Given the description of an element on the screen output the (x, y) to click on. 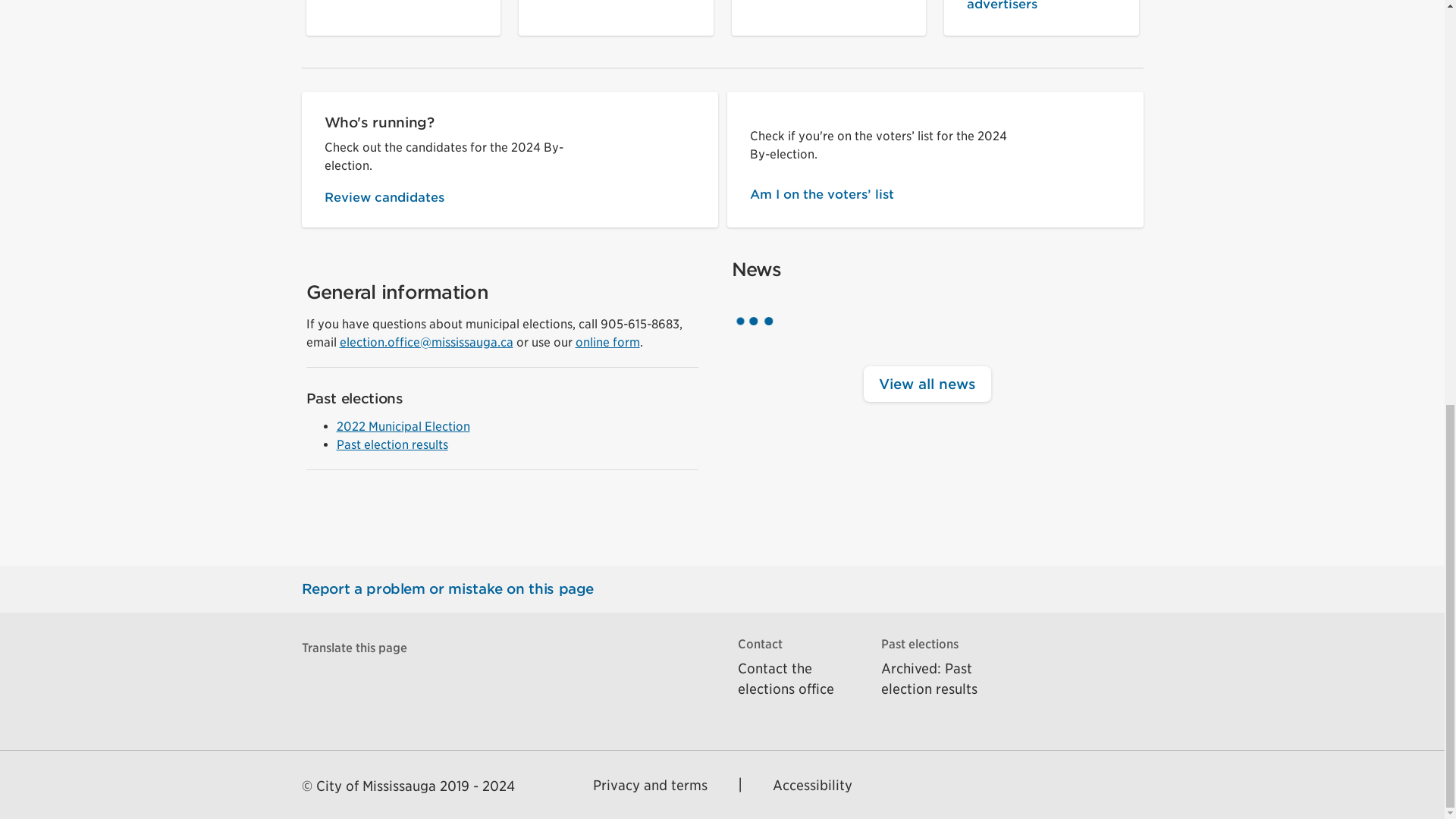
Information for voters (404, 6)
Learn about positions (828, 6)
Review candidates (464, 197)
Information for advertisers (1041, 6)
Become a candidate (615, 6)
